Given the description of an element on the screen output the (x, y) to click on. 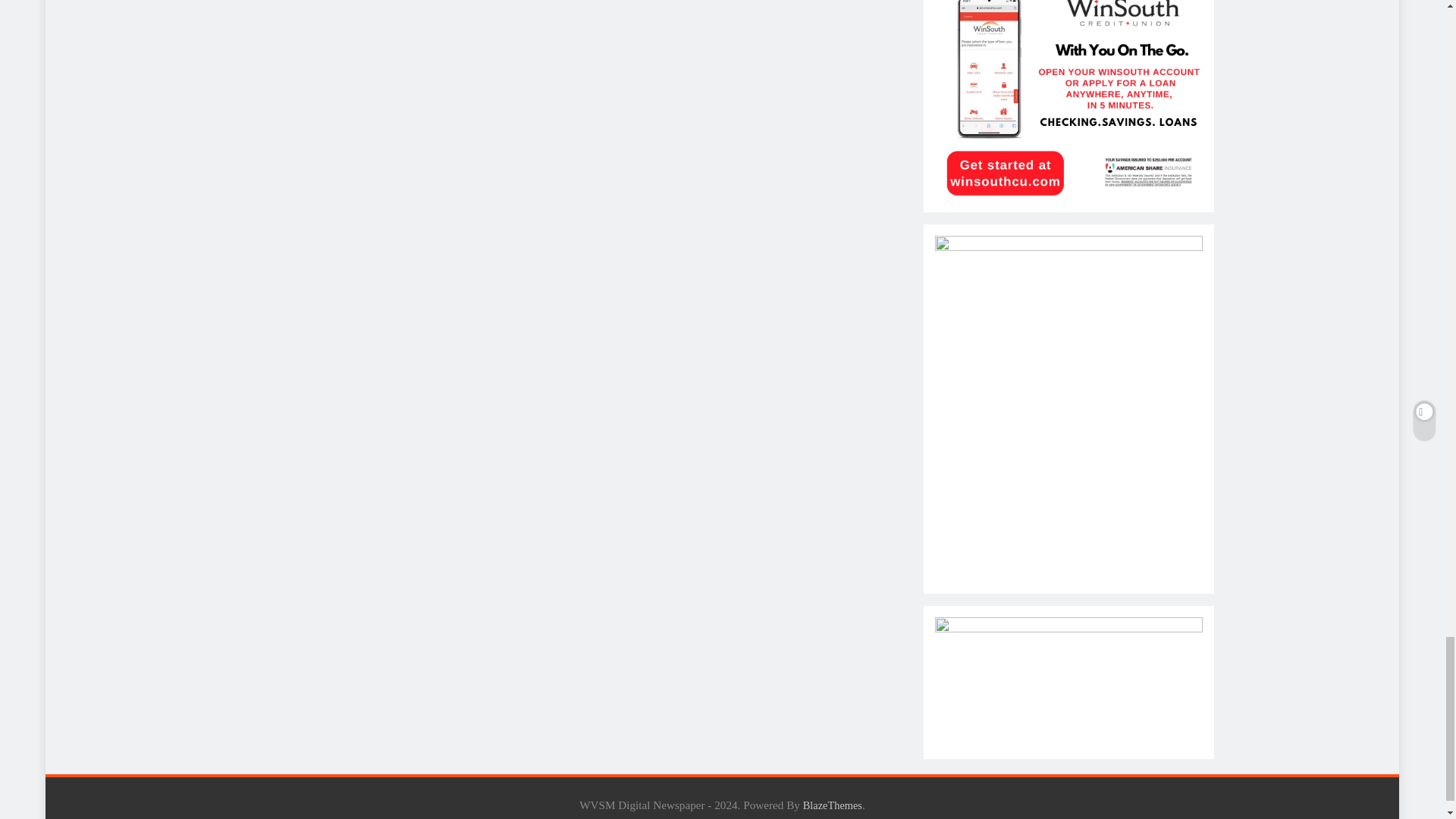
BlazeThemes (832, 805)
